Given the description of an element on the screen output the (x, y) to click on. 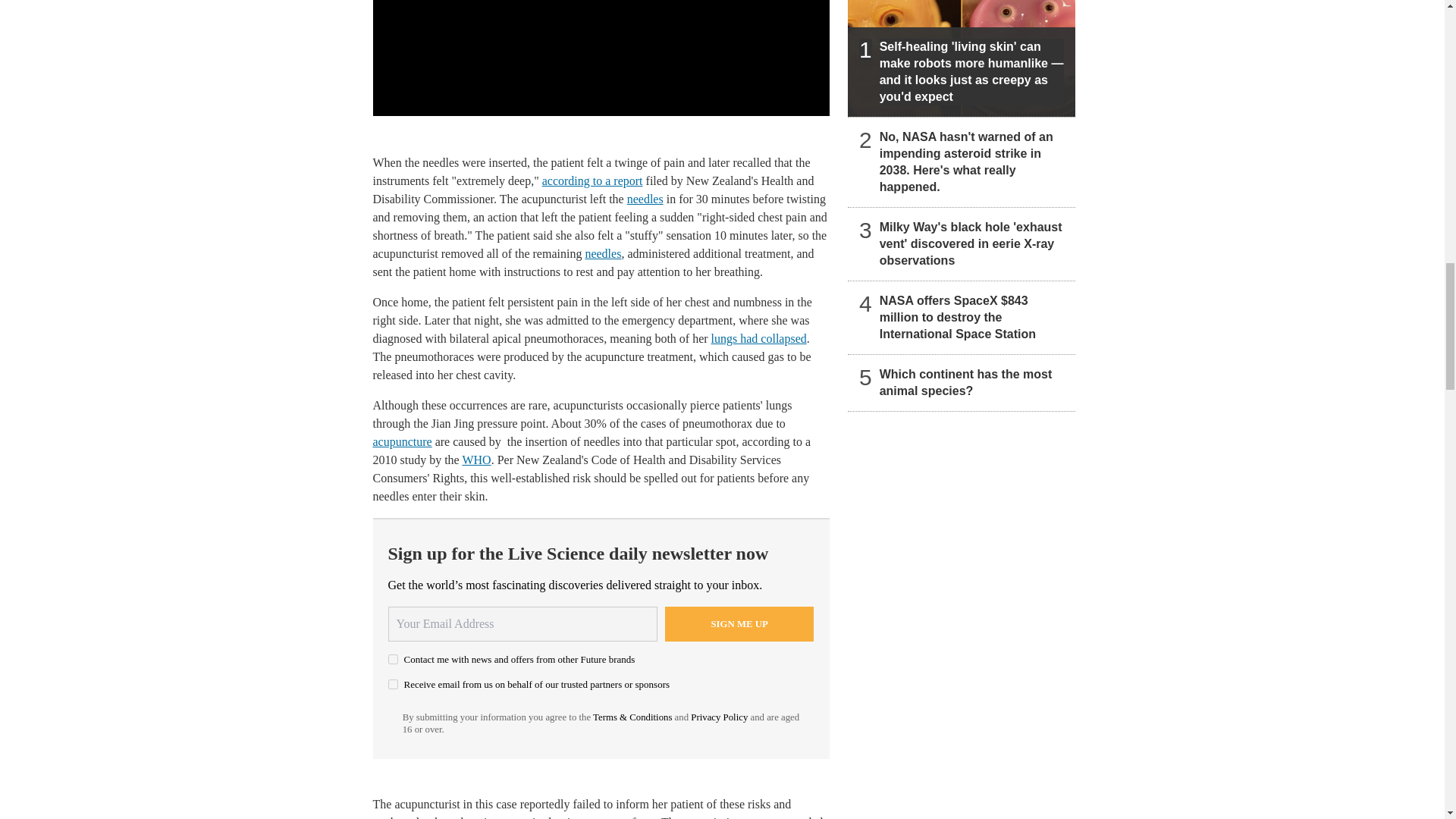
Sign me up (739, 623)
on (392, 659)
on (392, 684)
